Given the description of an element on the screen output the (x, y) to click on. 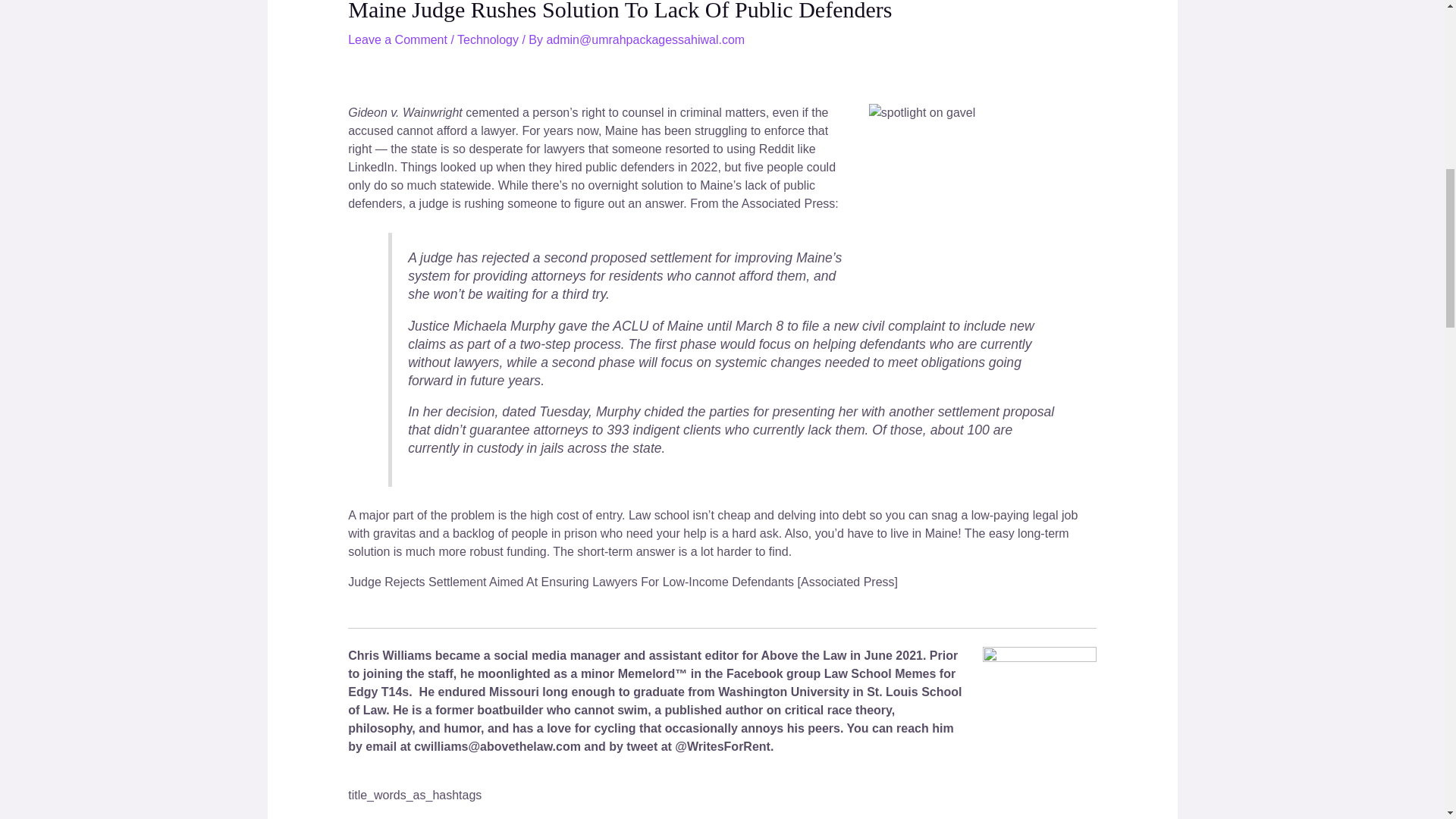
Leave a Comment (396, 39)
Technology (487, 39)
